Given the description of an element on the screen output the (x, y) to click on. 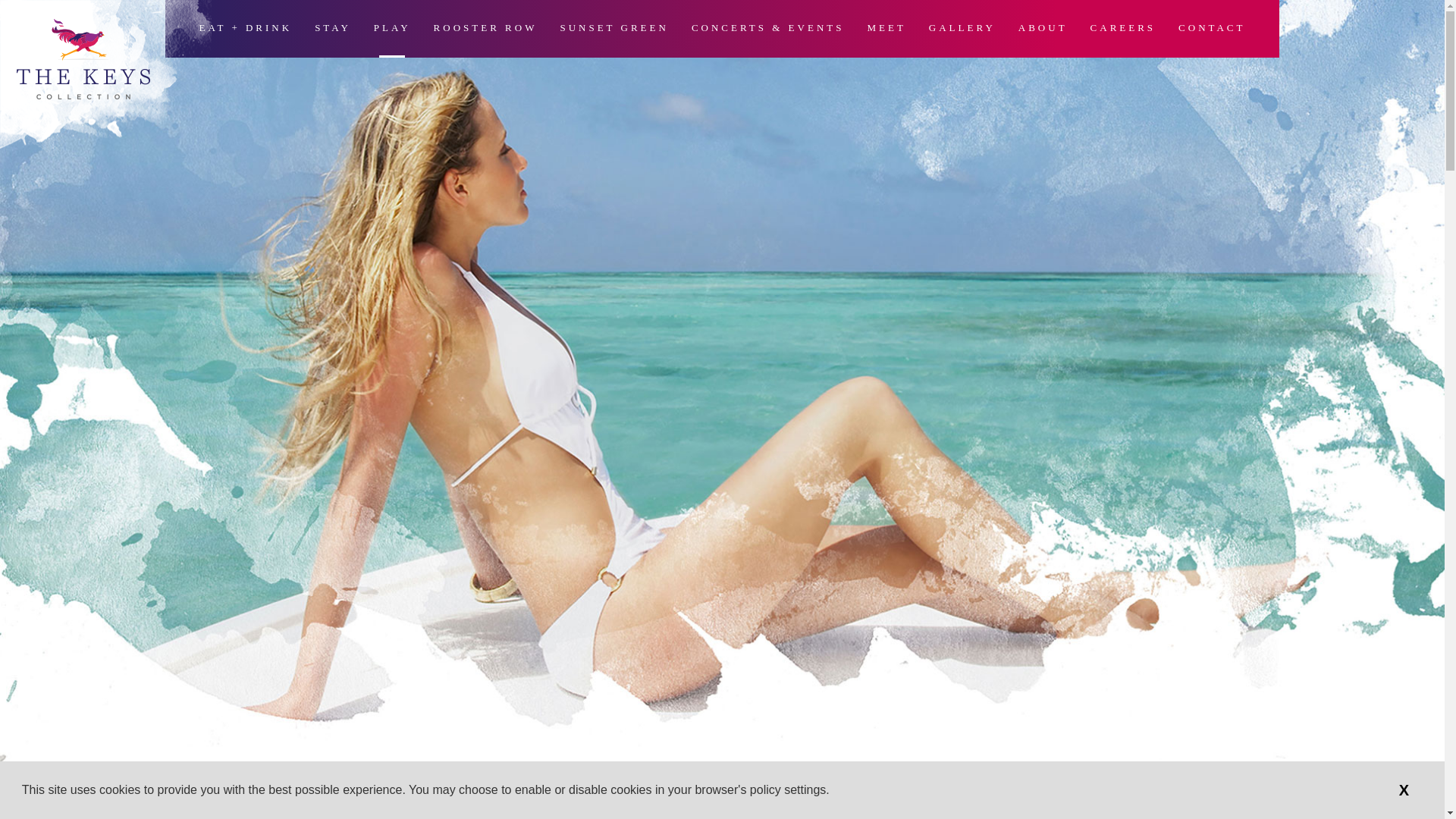
Contact (1210, 30)
SUNSET GREEN (613, 30)
Careers (1123, 30)
CONTACT (1210, 30)
CAREERS (1123, 30)
Sunset Green (613, 30)
Rooster Row (485, 30)
Play (392, 30)
Stay (332, 30)
About (1042, 30)
MEET (885, 30)
ROOSTER ROW (485, 30)
GALLERY (961, 30)
X (1404, 789)
ABOUT (1042, 30)
